Given the description of an element on the screen output the (x, y) to click on. 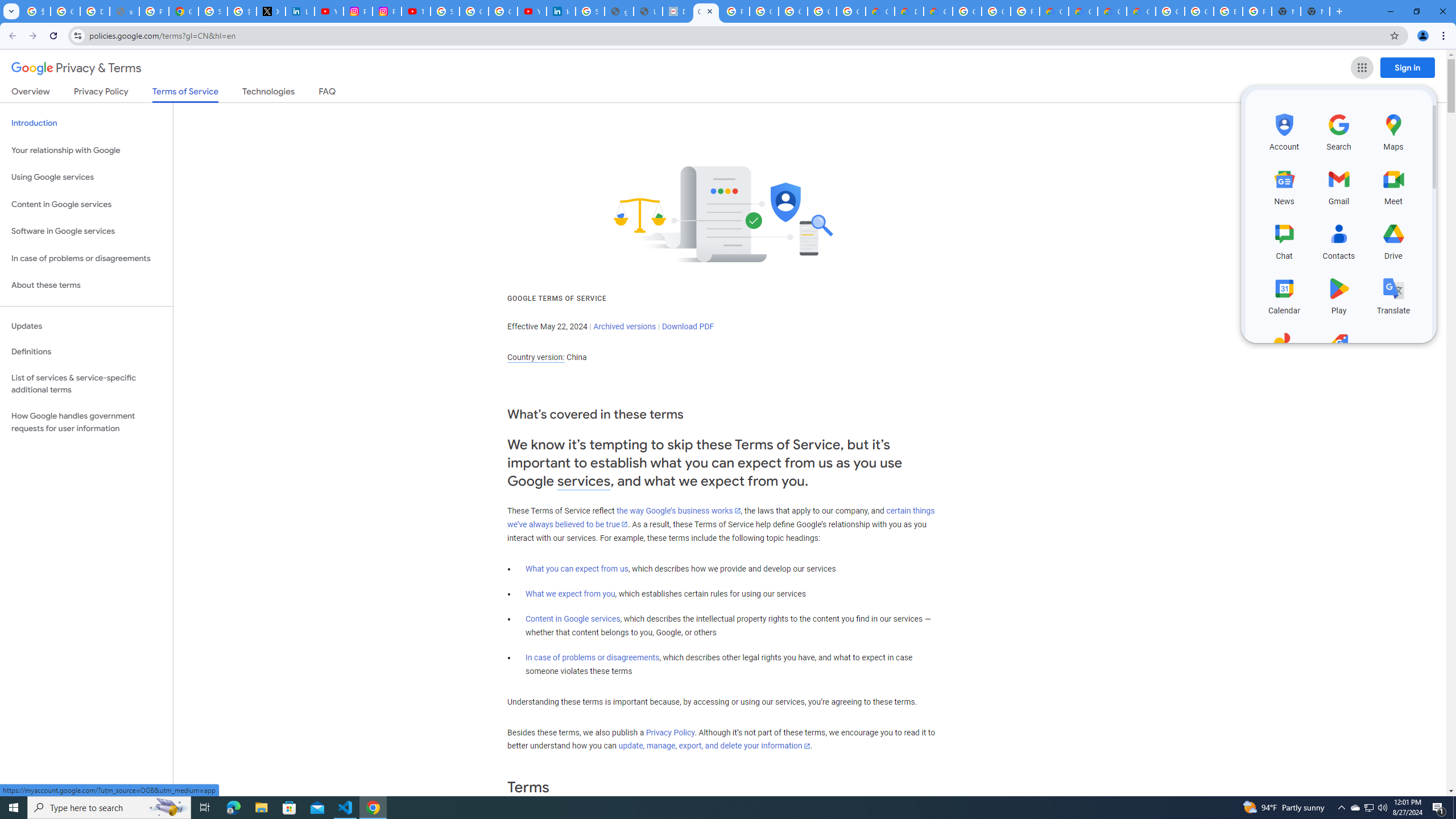
Sign in - Google Accounts (212, 11)
List of services & service-specific additional terms (86, 383)
Privacy Policy (669, 732)
LinkedIn Privacy Policy (300, 11)
Search tabs (10, 11)
New Tab (1338, 11)
Google Workspace - Specific Terms (821, 11)
Google Cloud Platform (1198, 11)
X (271, 11)
YouTube Content Monetization Policies - How YouTube Works (327, 11)
